Given the description of an element on the screen output the (x, y) to click on. 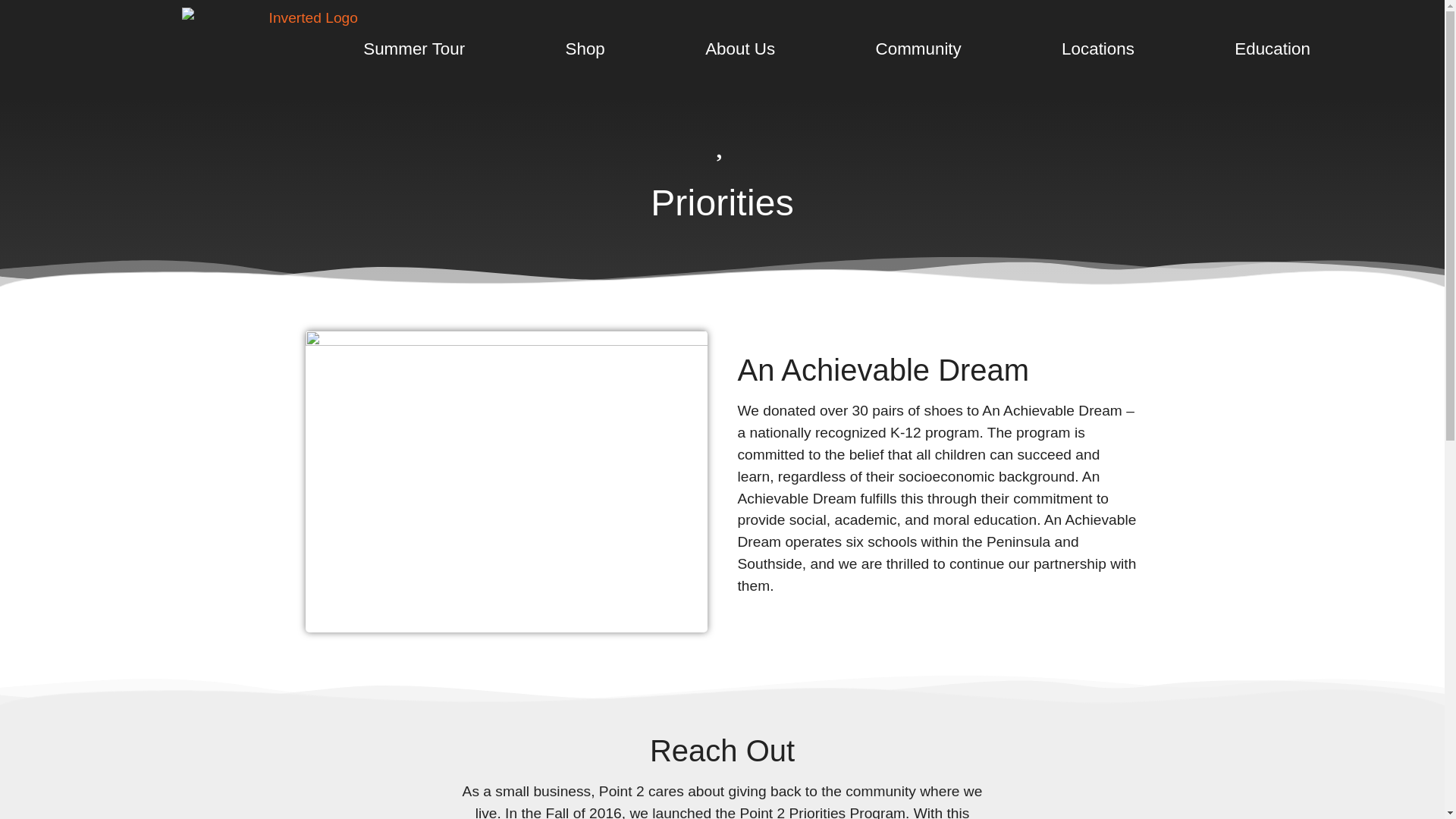
Shop (585, 48)
About Us (740, 48)
Locations (1098, 48)
Education (1272, 48)
Community (918, 48)
Summer Tour (414, 48)
